Given the description of an element on the screen output the (x, y) to click on. 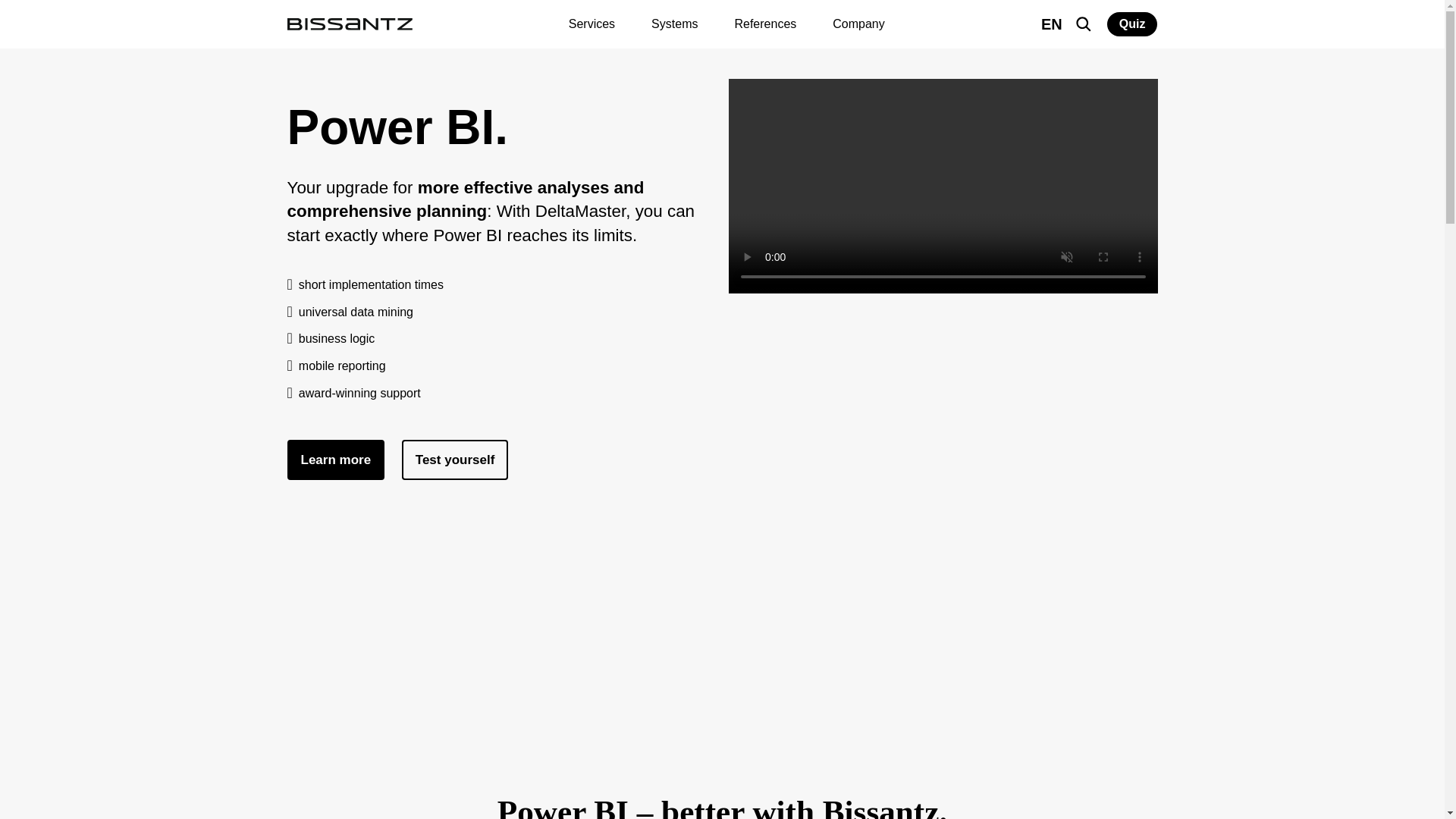
Services (591, 24)
References (765, 24)
Services (591, 24)
Systems (674, 24)
Systems (674, 24)
